Given the description of an element on the screen output the (x, y) to click on. 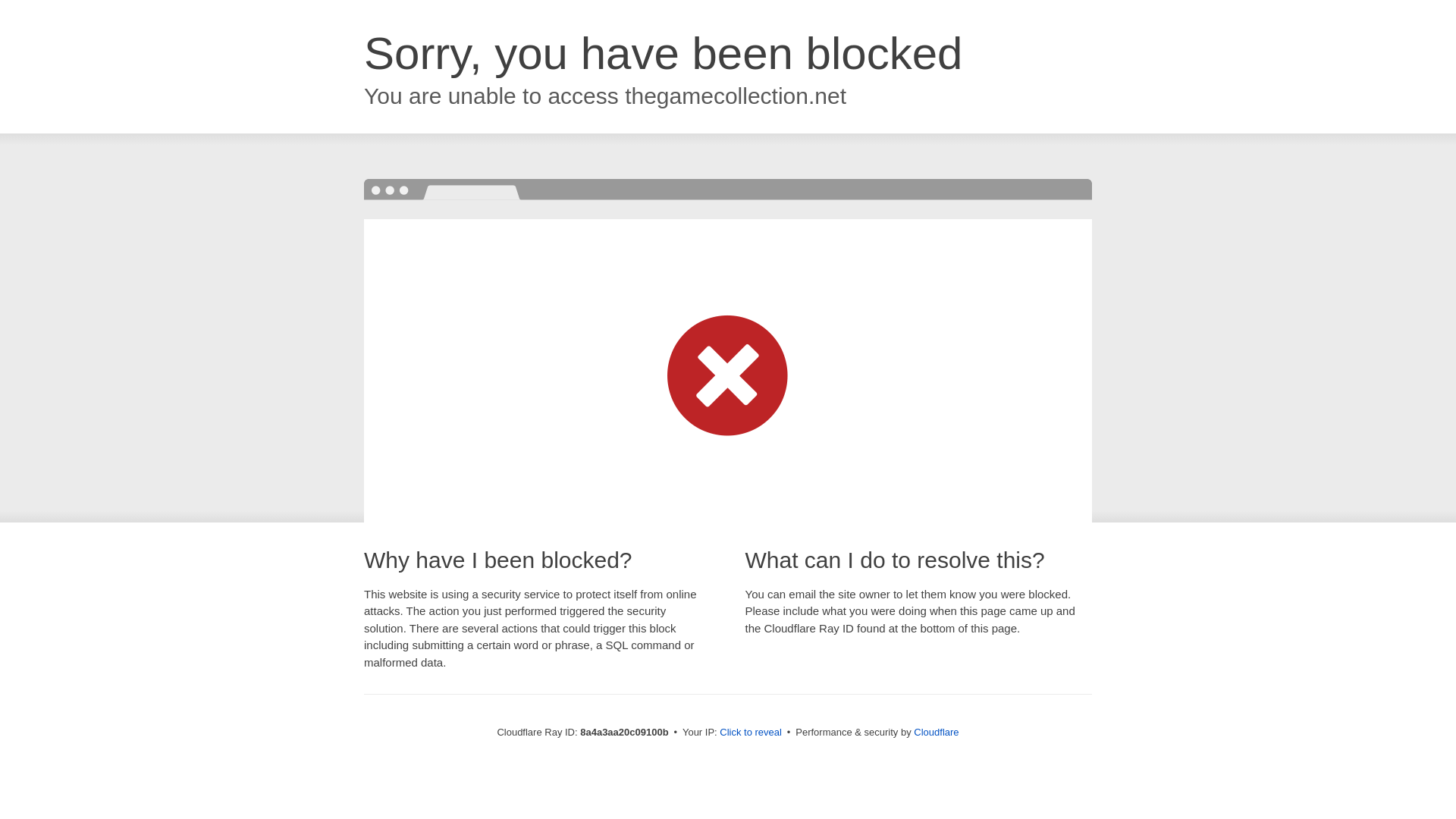
Click to reveal (750, 732)
Cloudflare (936, 731)
